Given the description of an element on the screen output the (x, y) to click on. 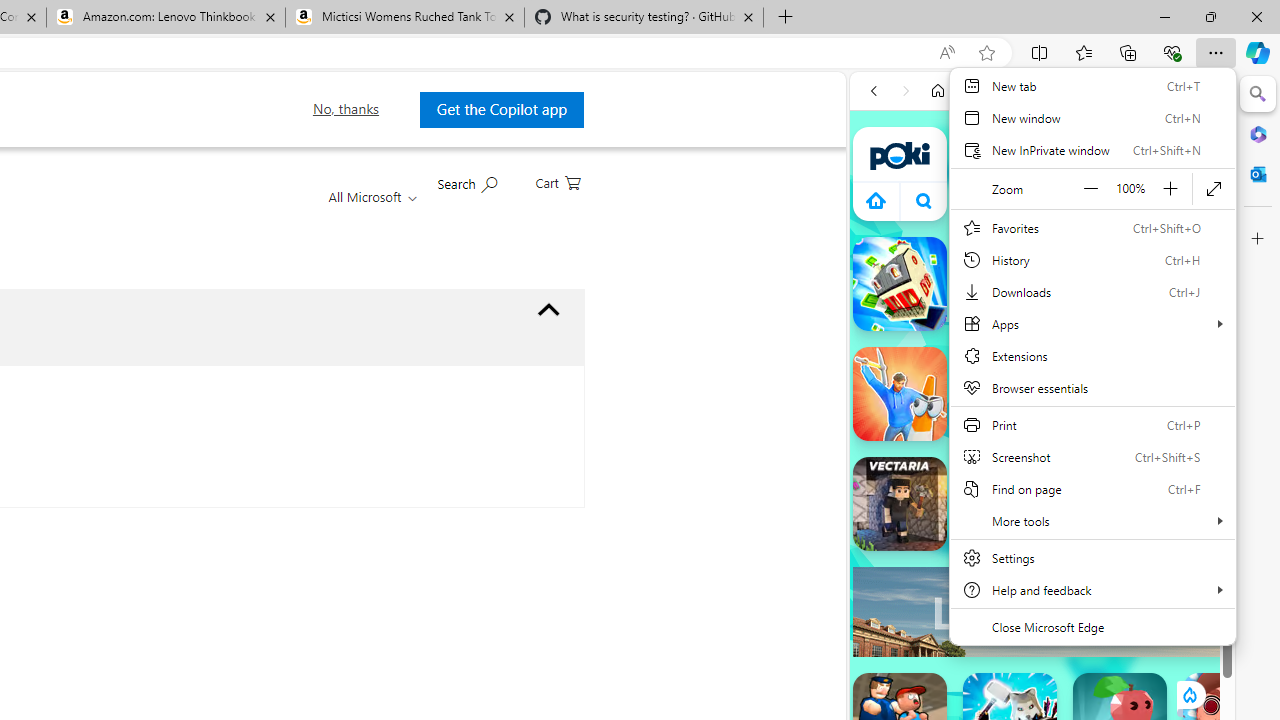
Vectaria.io Vectaria.io (899, 503)
Sports Games (1042, 666)
Show More Io Games (1164, 619)
Poki (1034, 288)
Show More Car Games (1164, 472)
